Given the description of an element on the screen output the (x, y) to click on. 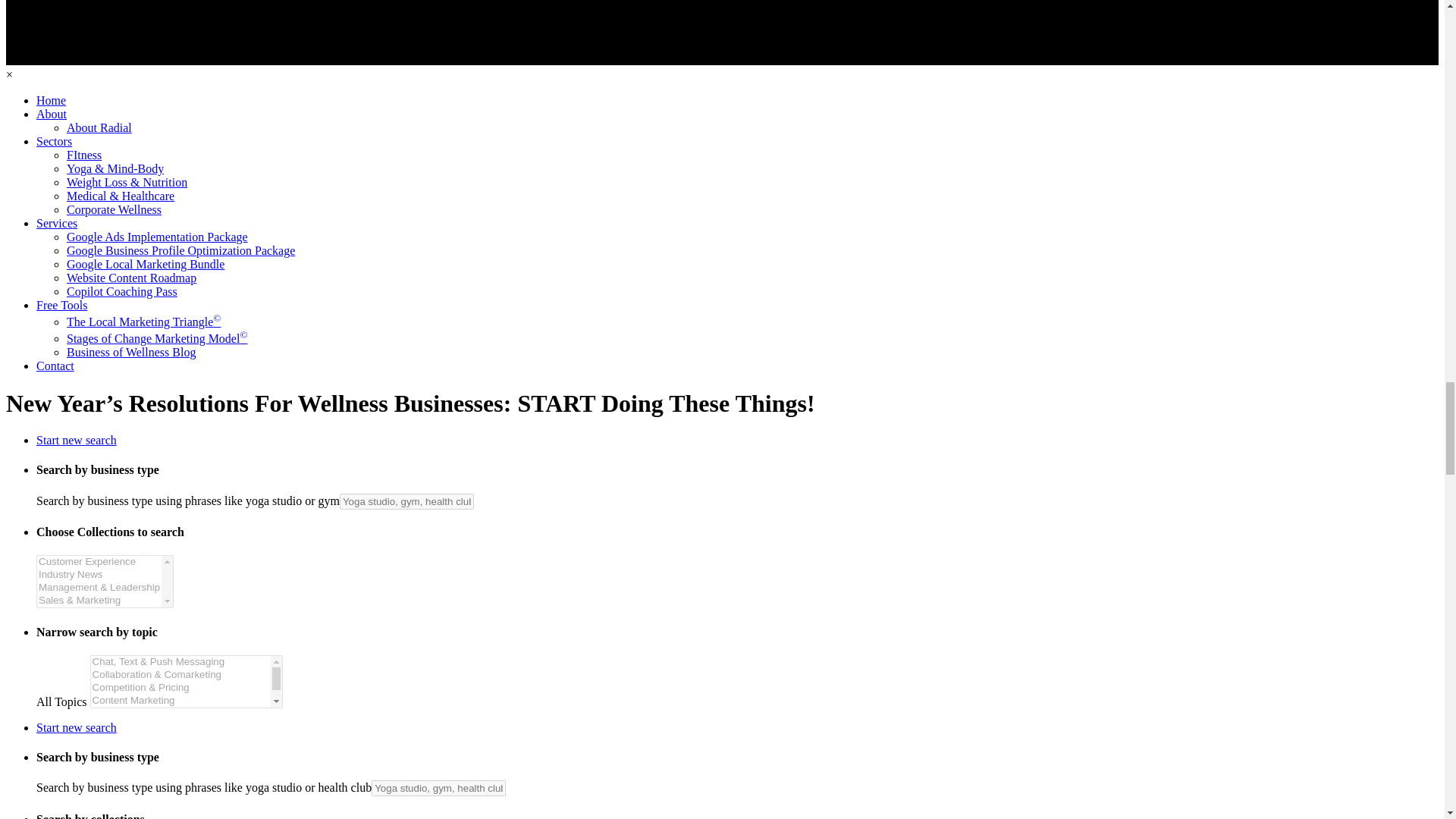
Copilot Coaching Pass (121, 291)
Home (50, 100)
Google Local Marketing Bundle (145, 264)
Corporate Wellness (113, 209)
About Radial (99, 127)
About (51, 113)
Google Business Profile Optimization Package (180, 250)
Website Content Roadmap (131, 277)
Google Ads Implementation Package (156, 236)
Services (56, 223)
All Topics (186, 681)
FItness (83, 154)
Sectors (53, 141)
